Given the description of an element on the screen output the (x, y) to click on. 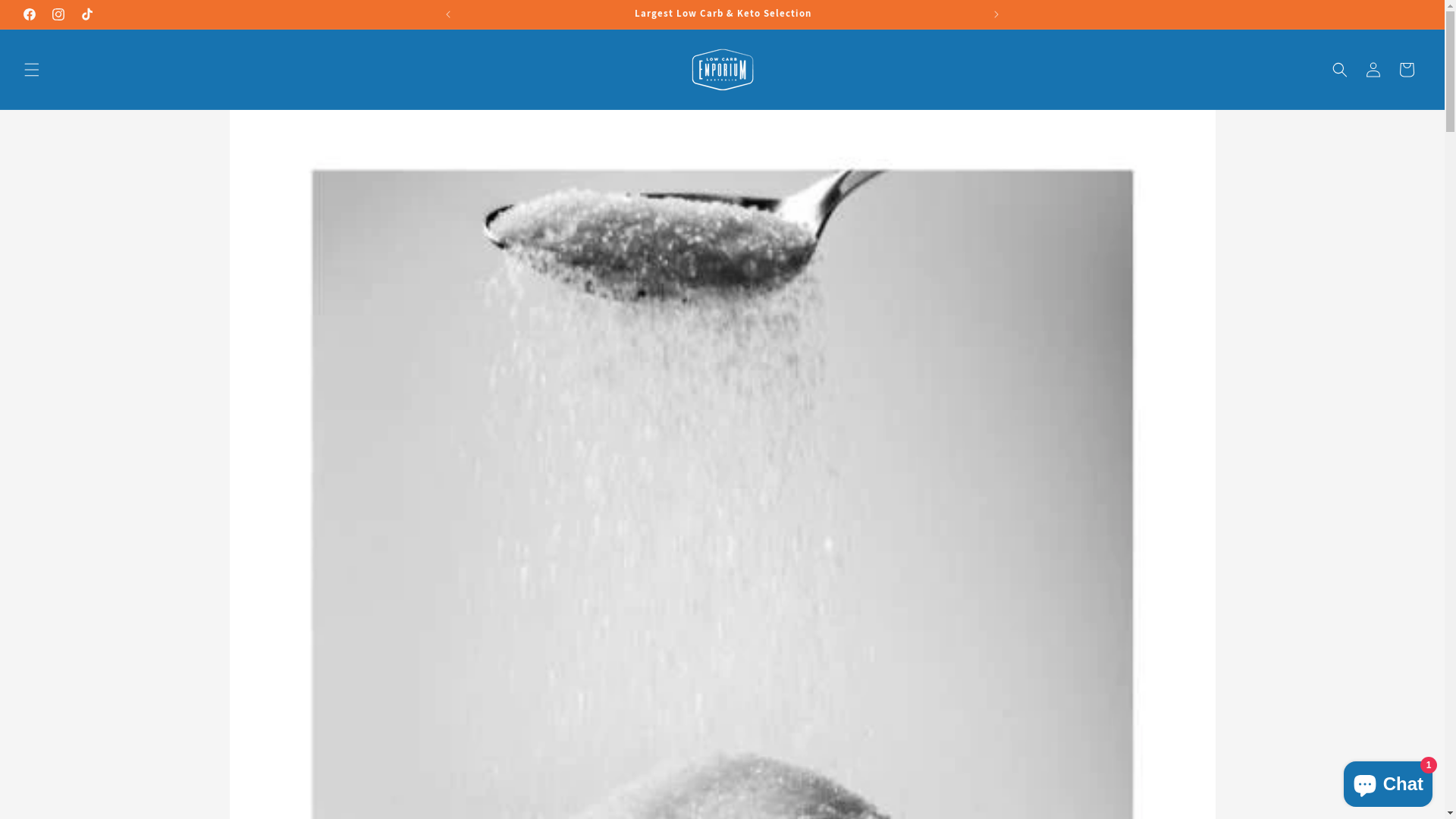
Cart Element type: text (1406, 69)
Instagram Element type: text (57, 14)
Facebook Element type: text (29, 14)
Shopify online store chat Element type: hover (1388, 780)
TikTok Element type: text (86, 14)
Log in Element type: text (1373, 69)
